Given the description of an element on the screen output the (x, y) to click on. 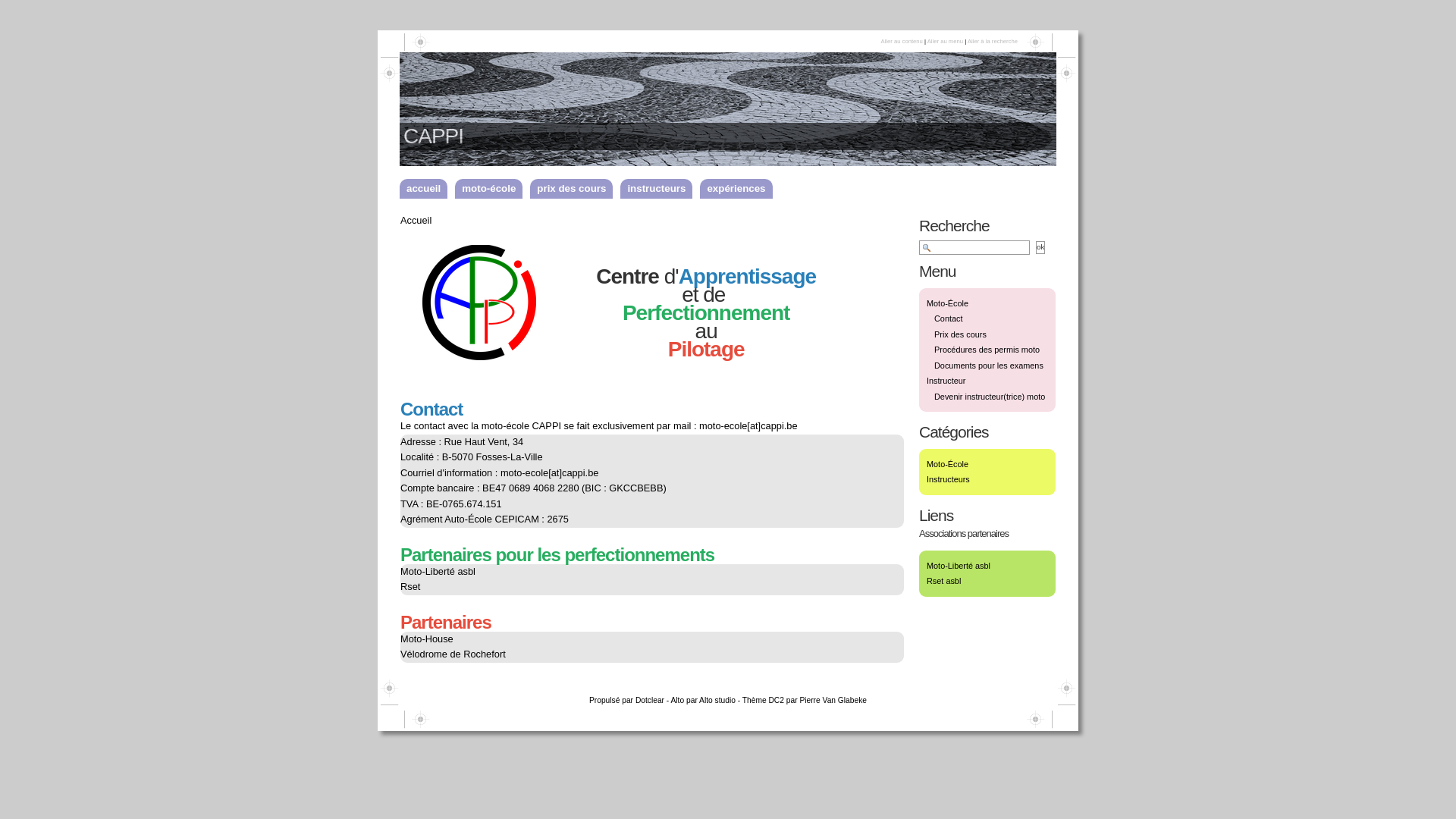
Rset asbl Element type: text (943, 580)
accueil Element type: text (426, 188)
Aller au menu Element type: text (945, 40)
CAPPI Element type: text (433, 135)
Instructeurs Element type: text (947, 478)
Documents pour les examens Element type: text (988, 365)
Aller au contenu Element type: text (901, 40)
Recherche Element type: hover (1039, 247)
Pierre Van Glabeke Element type: text (832, 700)
prix des cours Element type: text (574, 188)
instructeurs Element type: text (659, 188)
moto-ecole[at]cappi.be Element type: text (748, 425)
Dotclear Element type: text (649, 700)
ok Element type: text (1039, 247)
moto-ecole[at]cappi.be Element type: text (549, 472)
Rset Element type: text (410, 586)
Prix des cours Element type: text (960, 333)
Instructeur Element type: text (945, 380)
Devenir instructeur(trice) moto Element type: text (989, 395)
Contact Element type: text (948, 318)
